Given the description of an element on the screen output the (x, y) to click on. 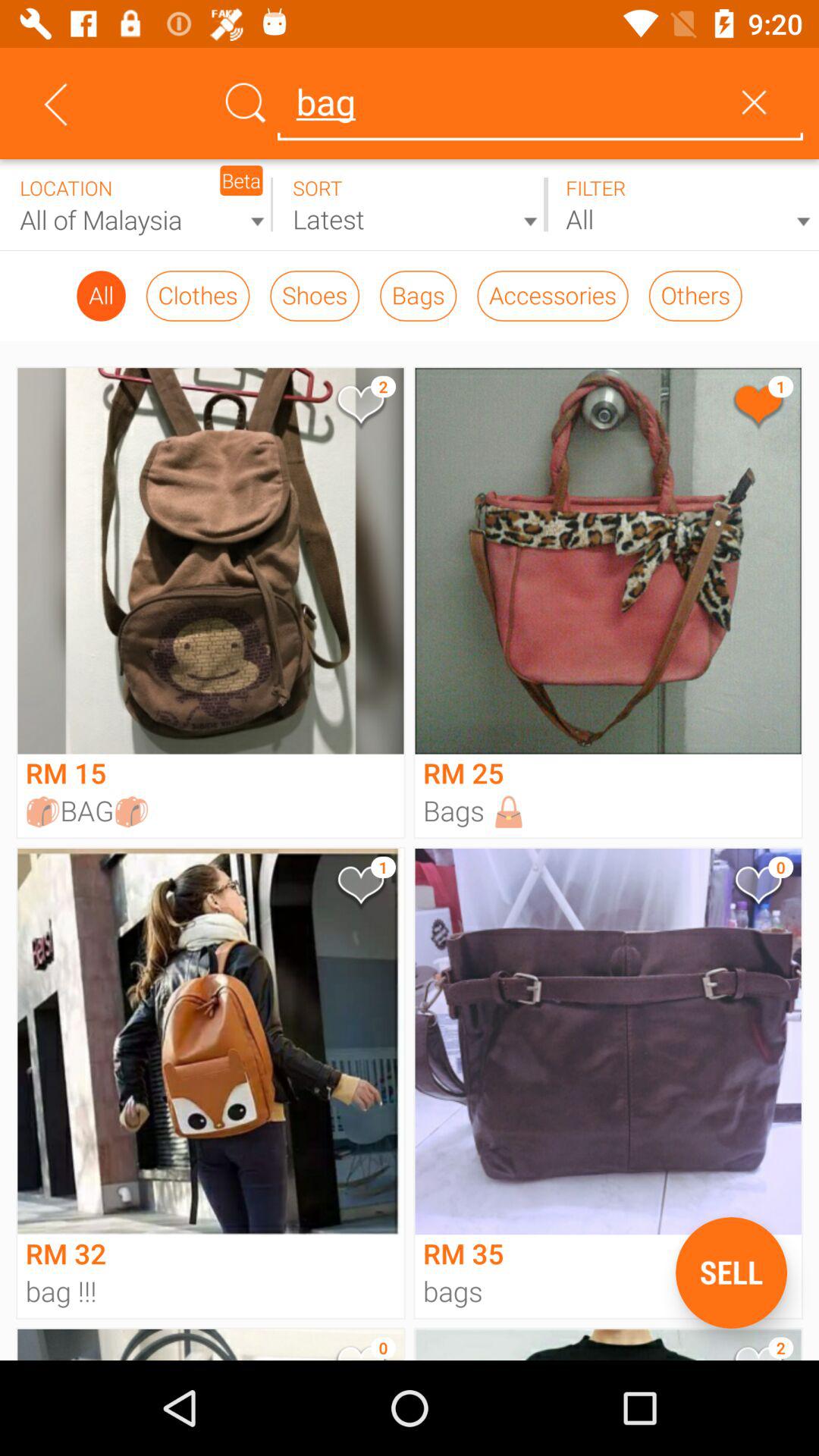
my favorite model (359, 888)
